Given the description of an element on the screen output the (x, y) to click on. 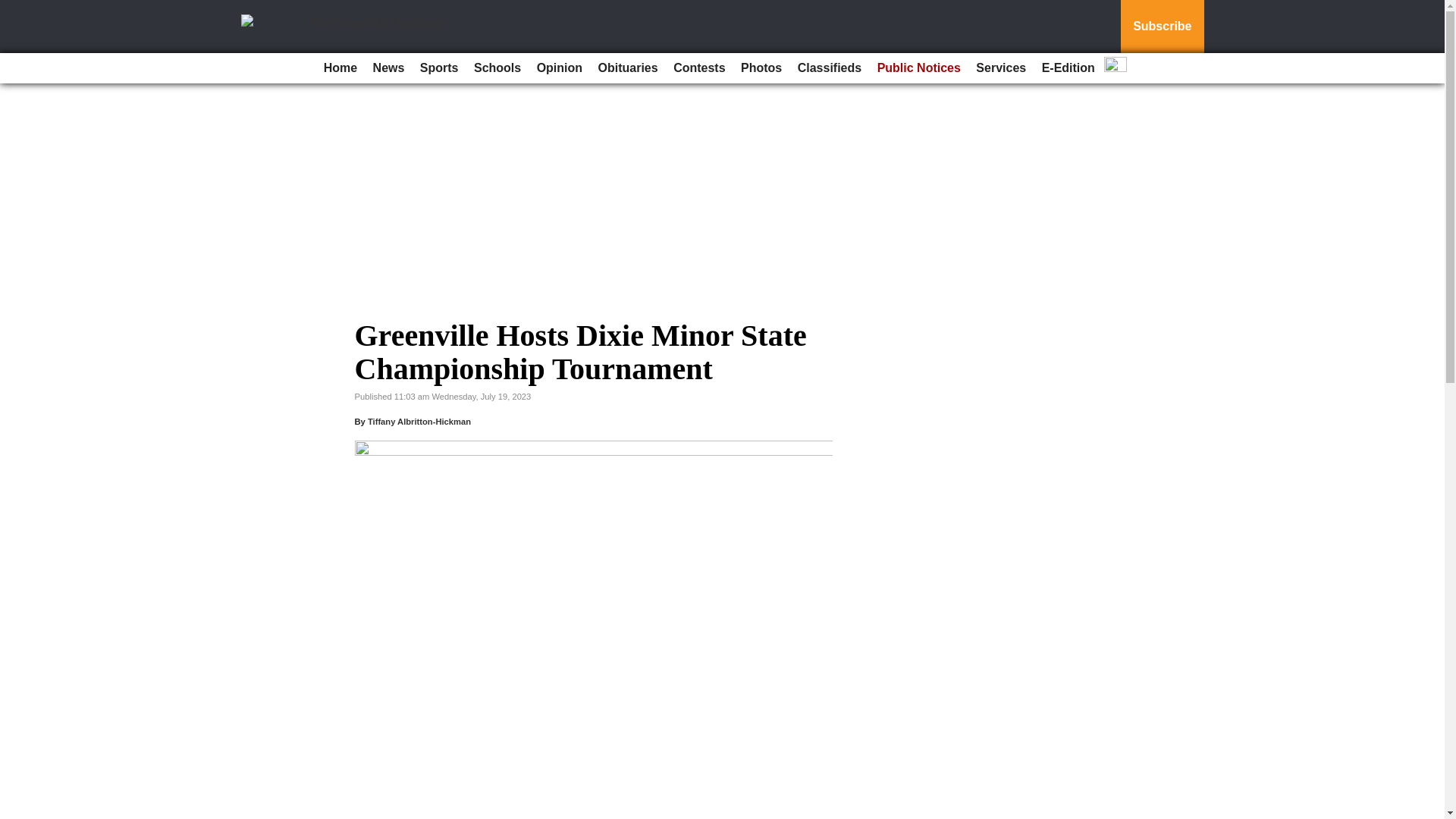
Classifieds (829, 68)
Services (1000, 68)
Public Notices (918, 68)
Photos (761, 68)
Schools (497, 68)
Home (339, 68)
Contests (698, 68)
Sports (438, 68)
Opinion (559, 68)
E-Edition (1067, 68)
